Given the description of an element on the screen output the (x, y) to click on. 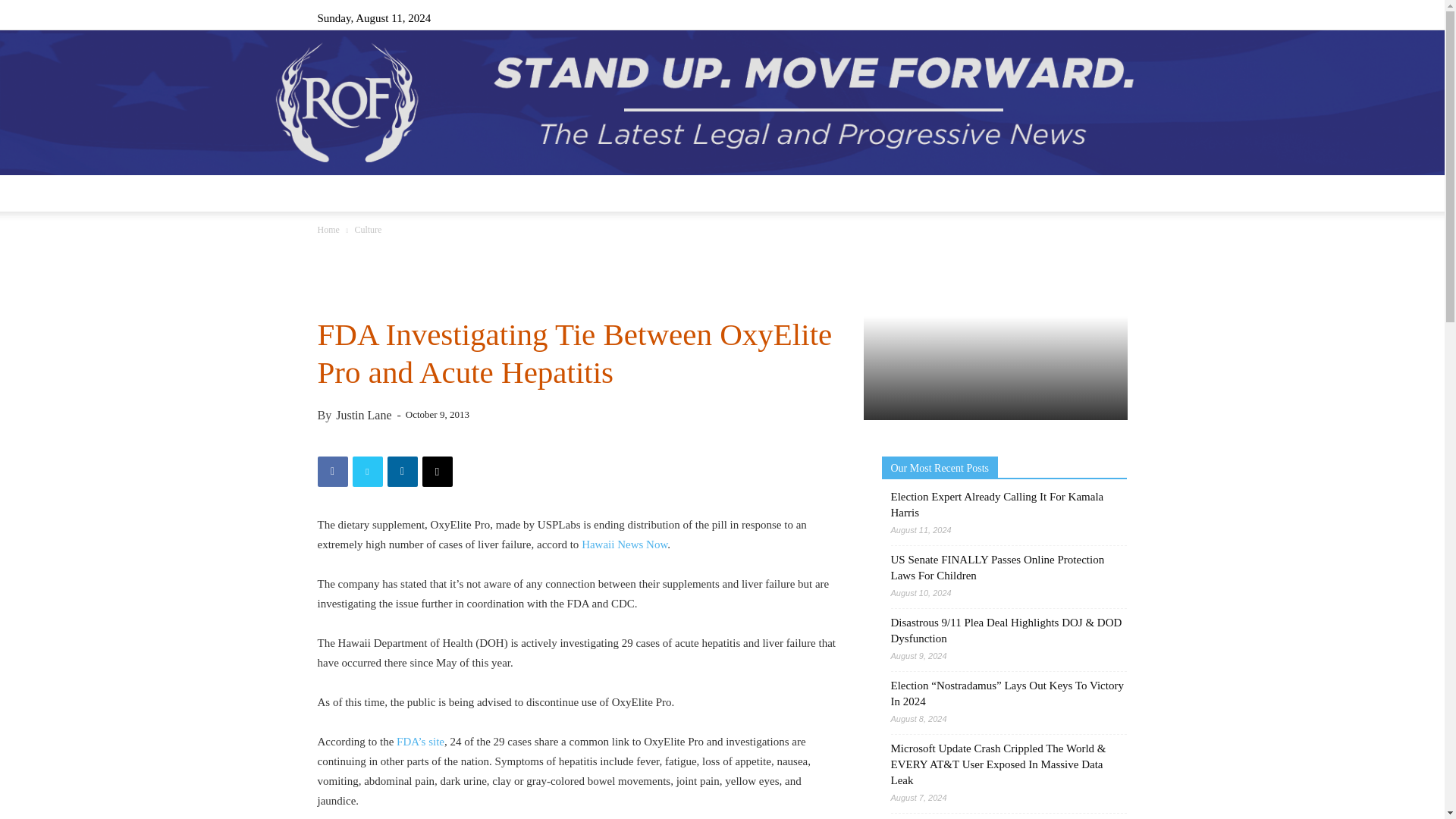
Twitter (1090, 17)
Instagram (1040, 17)
Youtube (1114, 17)
RSS (1065, 17)
Facebook (1015, 17)
